Given the description of an element on the screen output the (x, y) to click on. 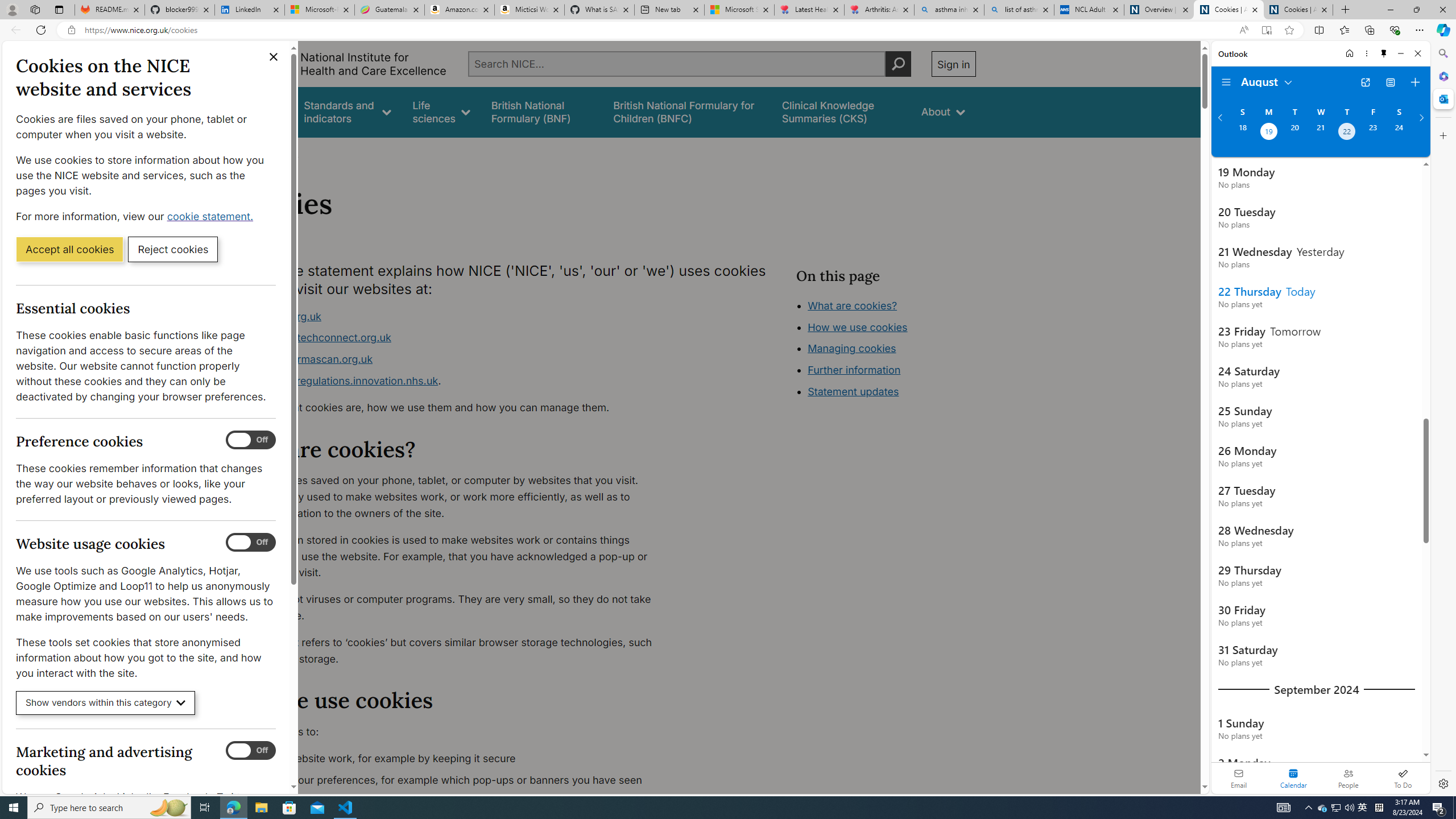
About (283, 152)
People (1347, 777)
About (283, 152)
View Switcher. Current view is Agenda view (1390, 82)
Settings and more (Alt+F) (1419, 29)
How we use cookies (857, 327)
Monday, August 19, 2024. Date selected.  (1268, 132)
Arthritis: Ask Health Professionals (879, 9)
Open in new tab (1365, 82)
make our website work, for example by keeping it secure (452, 759)
Workspaces (34, 9)
Enter Immersive Reader (F9) (1266, 29)
